Given the description of an element on the screen output the (x, y) to click on. 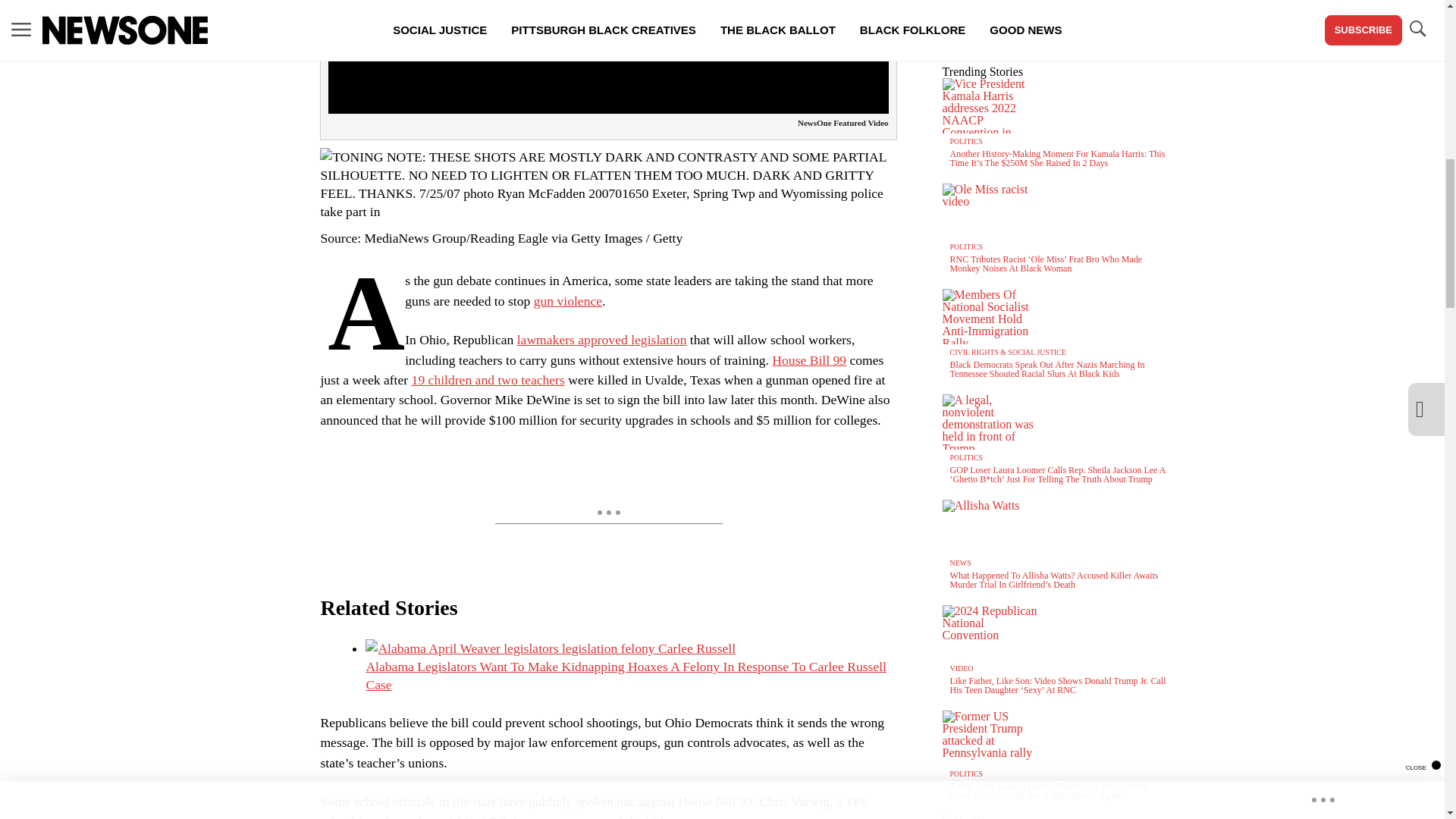
19 children and two teachers (488, 379)
lawmakers approved legislation (601, 339)
House Bill 99 (808, 359)
gun violence (568, 300)
